Given the description of an element on the screen output the (x, y) to click on. 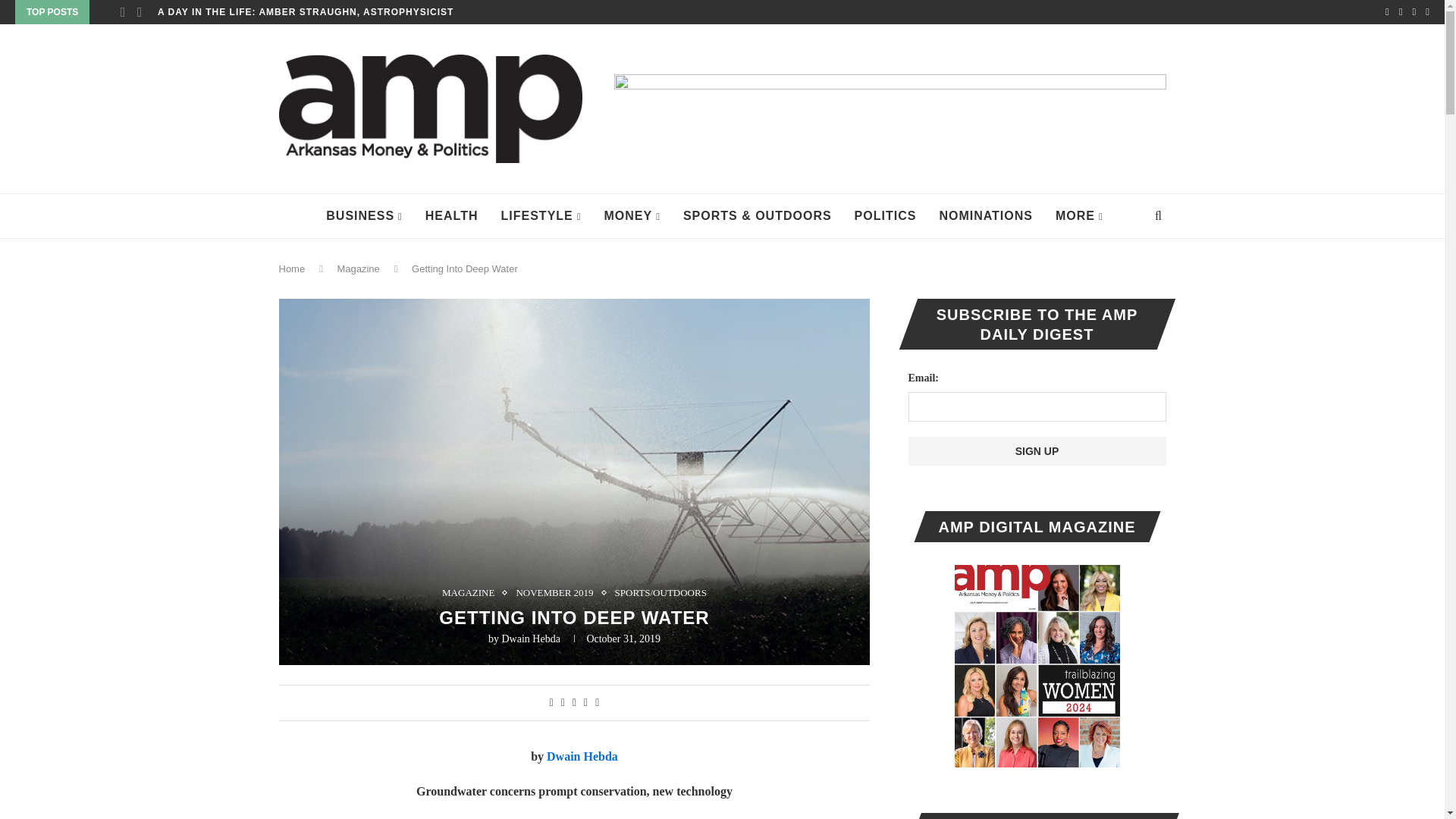
Sign up (1037, 451)
